Given the description of an element on the screen output the (x, y) to click on. 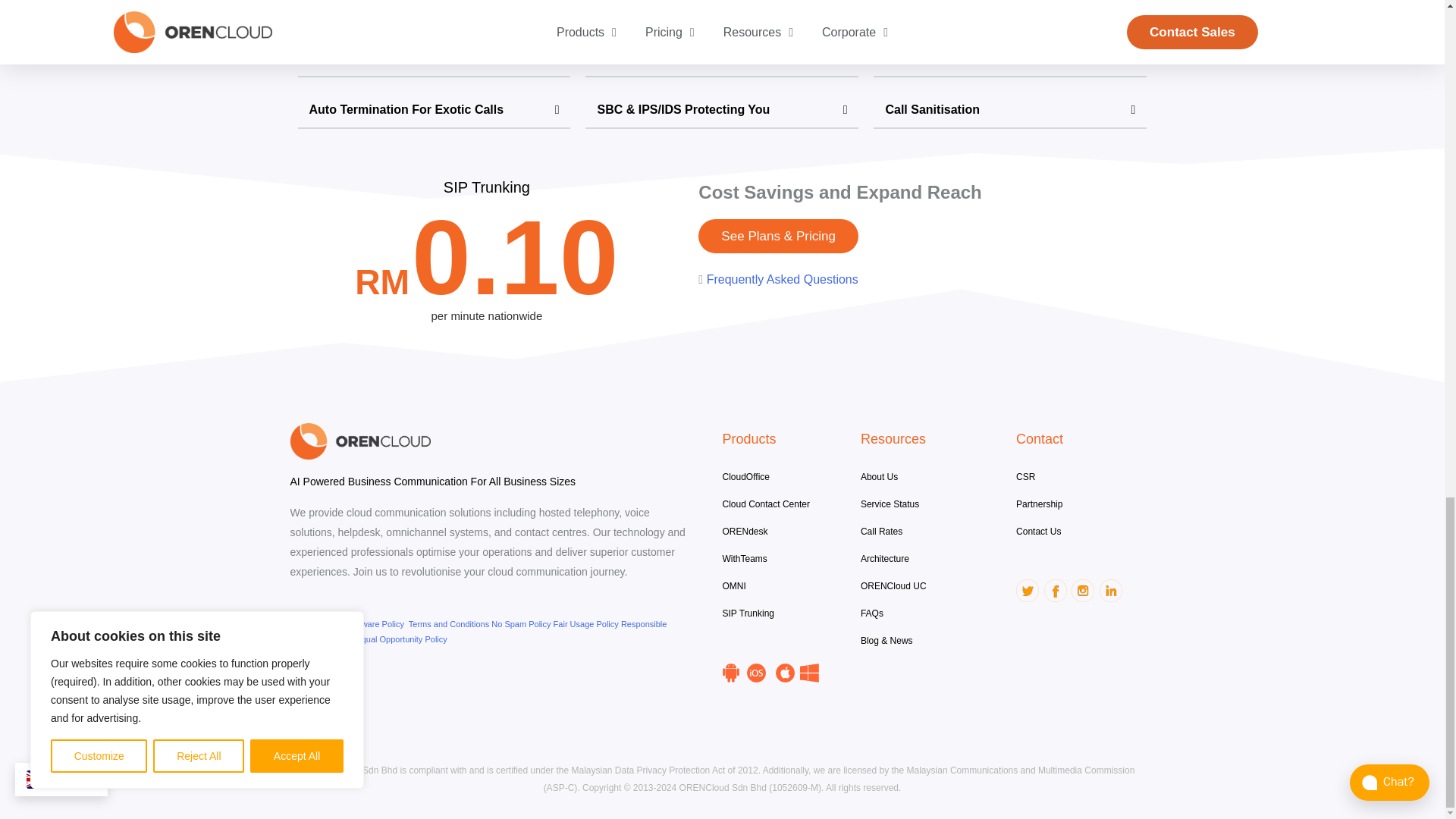
Android App (730, 672)
Facebook (1055, 590)
LinkedIn (1110, 590)
Download For MacOS (785, 672)
iOS App (755, 672)
Twitter (1027, 590)
Download For Windows (808, 672)
Instagram (1082, 590)
